Given the description of an element on the screen output the (x, y) to click on. 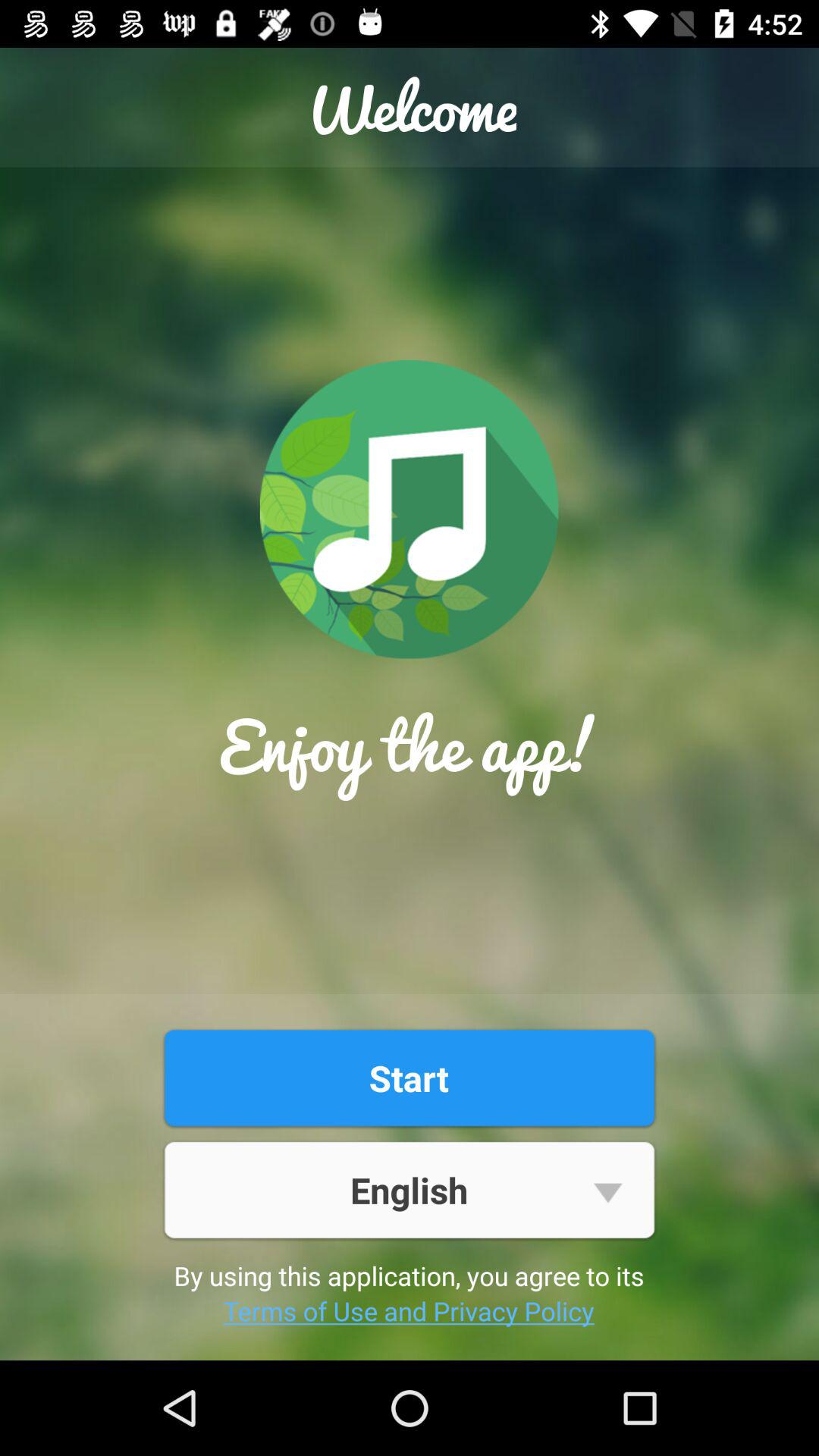
press item above english item (409, 1078)
